Given the description of an element on the screen output the (x, y) to click on. 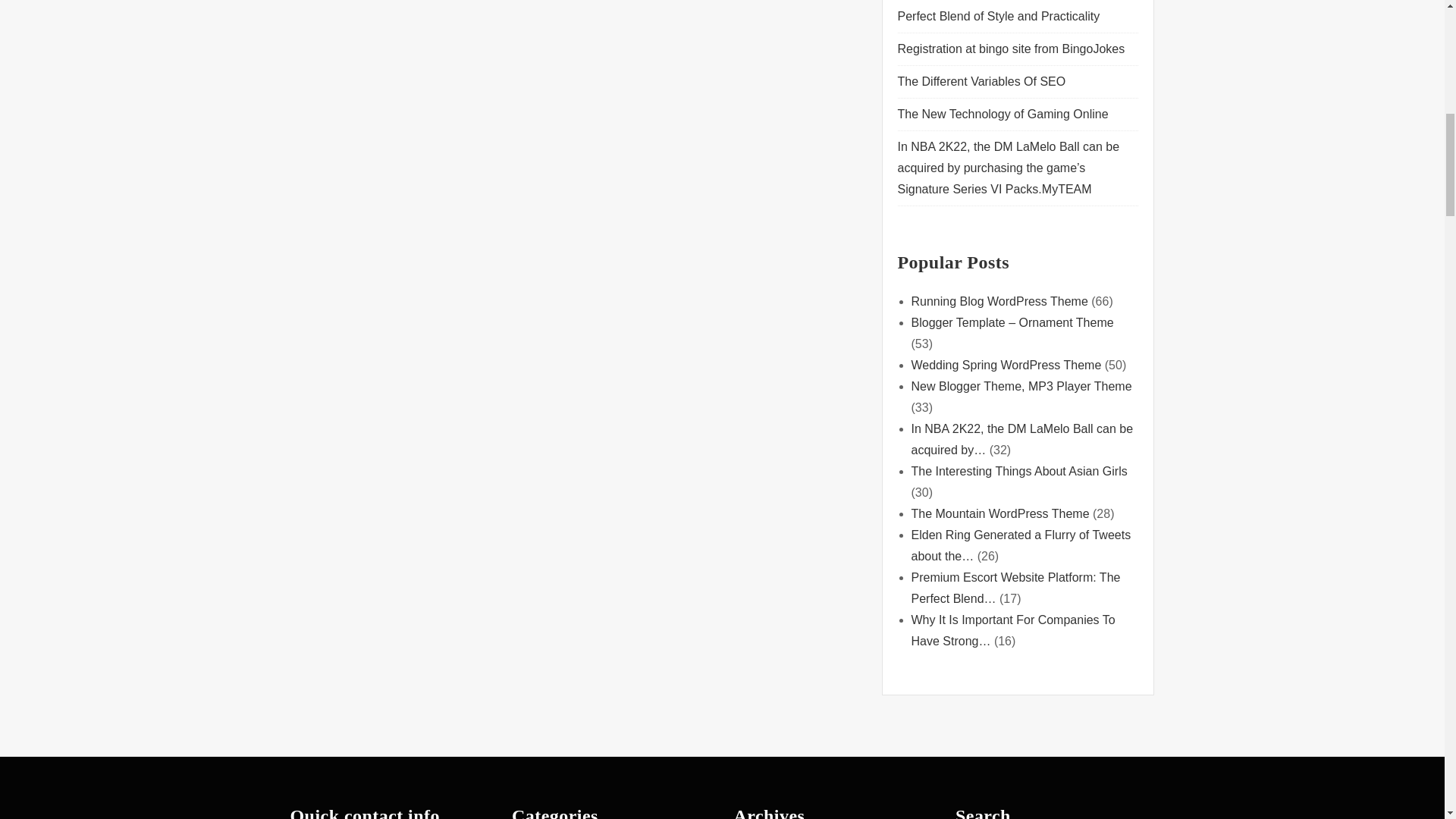
Running Blog WordPress Theme (999, 300)
The Mountain WordPress Theme (1000, 513)
The New Technology of Gaming Online (1003, 113)
The Different Variables Of SEO (981, 81)
The Interesting Things About Asian Girls (1018, 471)
New Blogger Theme, MP3 Player Theme (1021, 386)
Wedding Spring WordPress Theme (1006, 364)
Registration at bingo site from BingoJokes  (1013, 48)
